Given the description of an element on the screen output the (x, y) to click on. 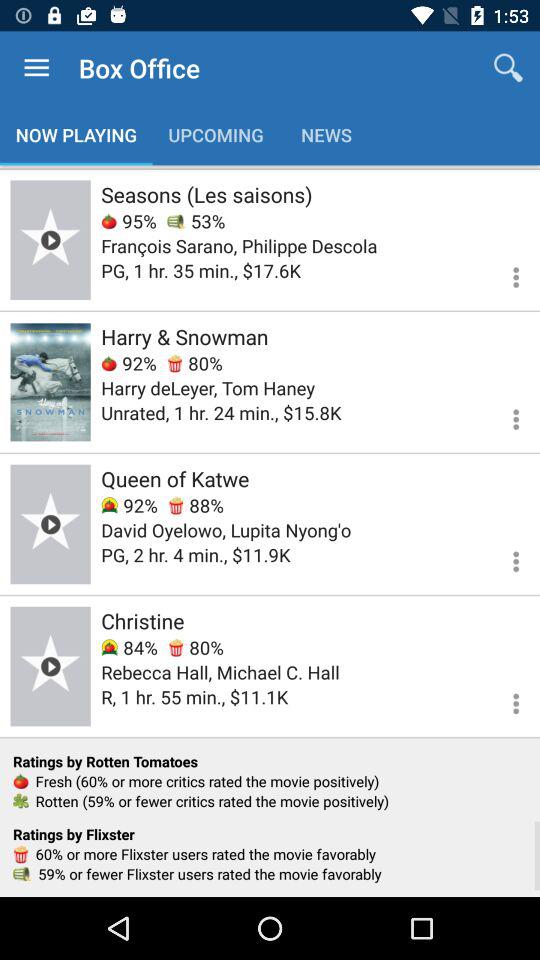
play this (50, 666)
